Given the description of an element on the screen output the (x, y) to click on. 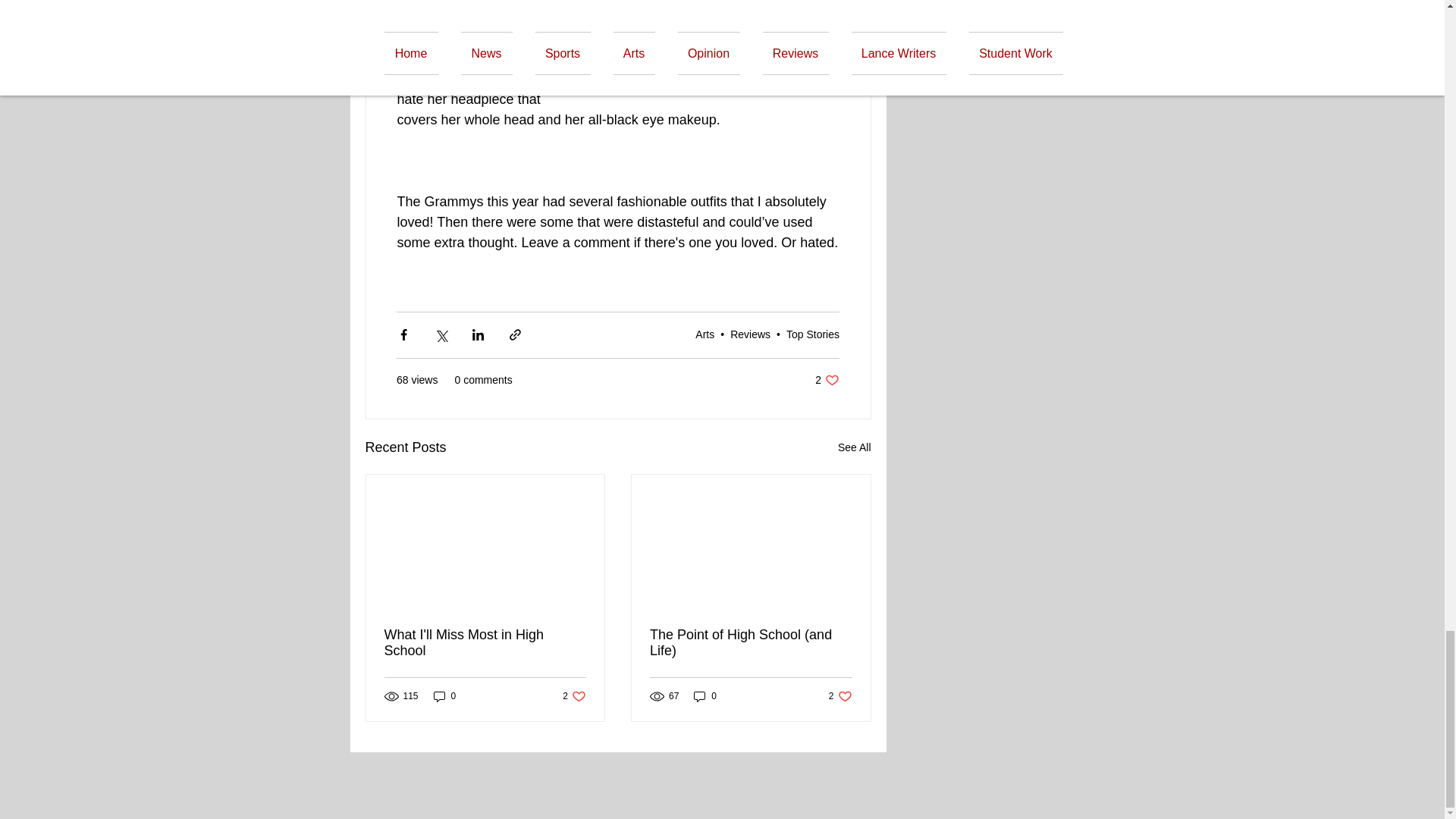
Arts (704, 334)
Top Stories (813, 334)
Reviews (750, 334)
0 (445, 696)
What I'll Miss Most in High School (574, 696)
See All (485, 643)
0 (854, 447)
